Given the description of an element on the screen output the (x, y) to click on. 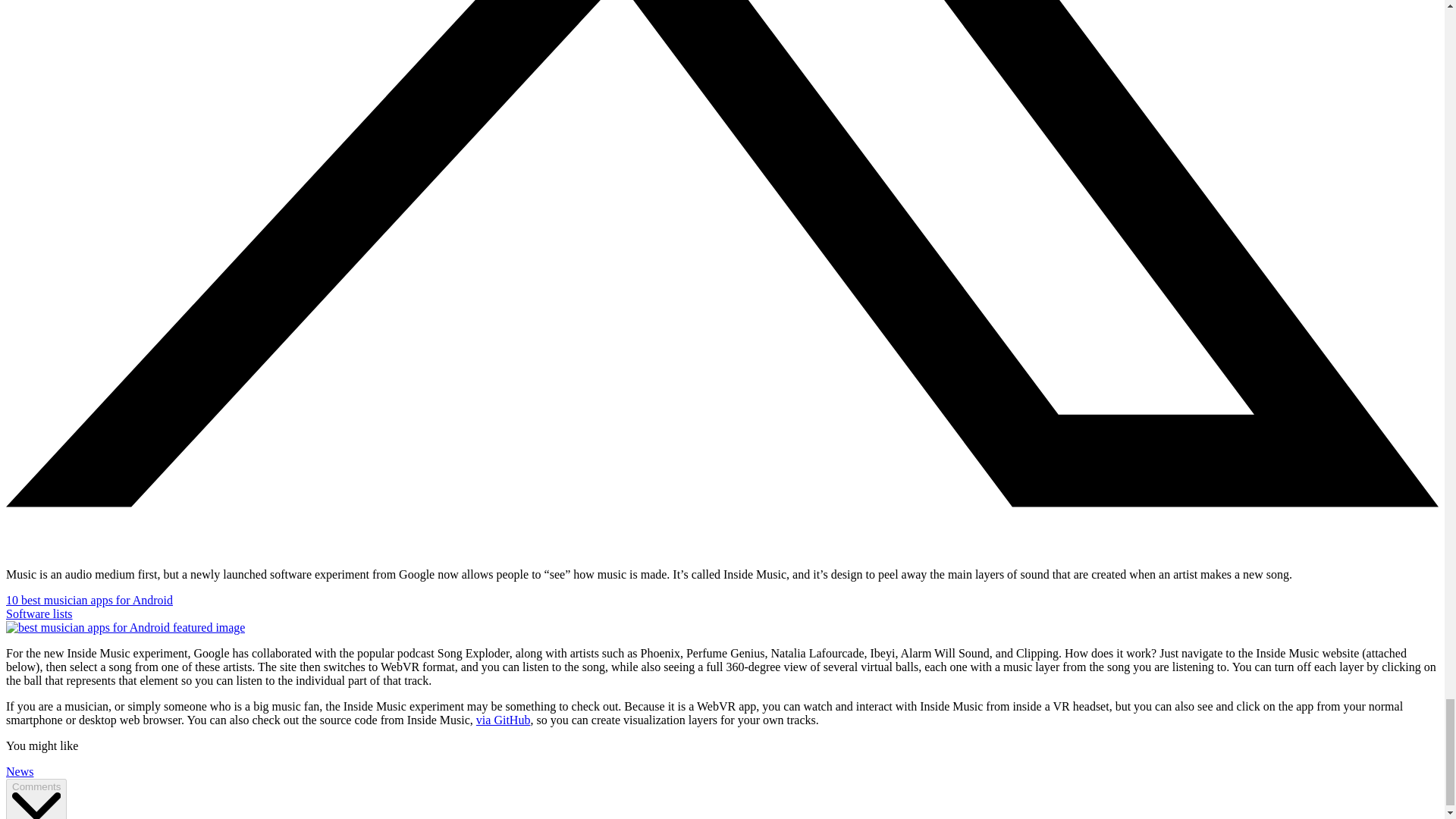
via GitHub (503, 719)
best musician apps - FL Studio (124, 627)
News (19, 771)
